Given the description of an element on the screen output the (x, y) to click on. 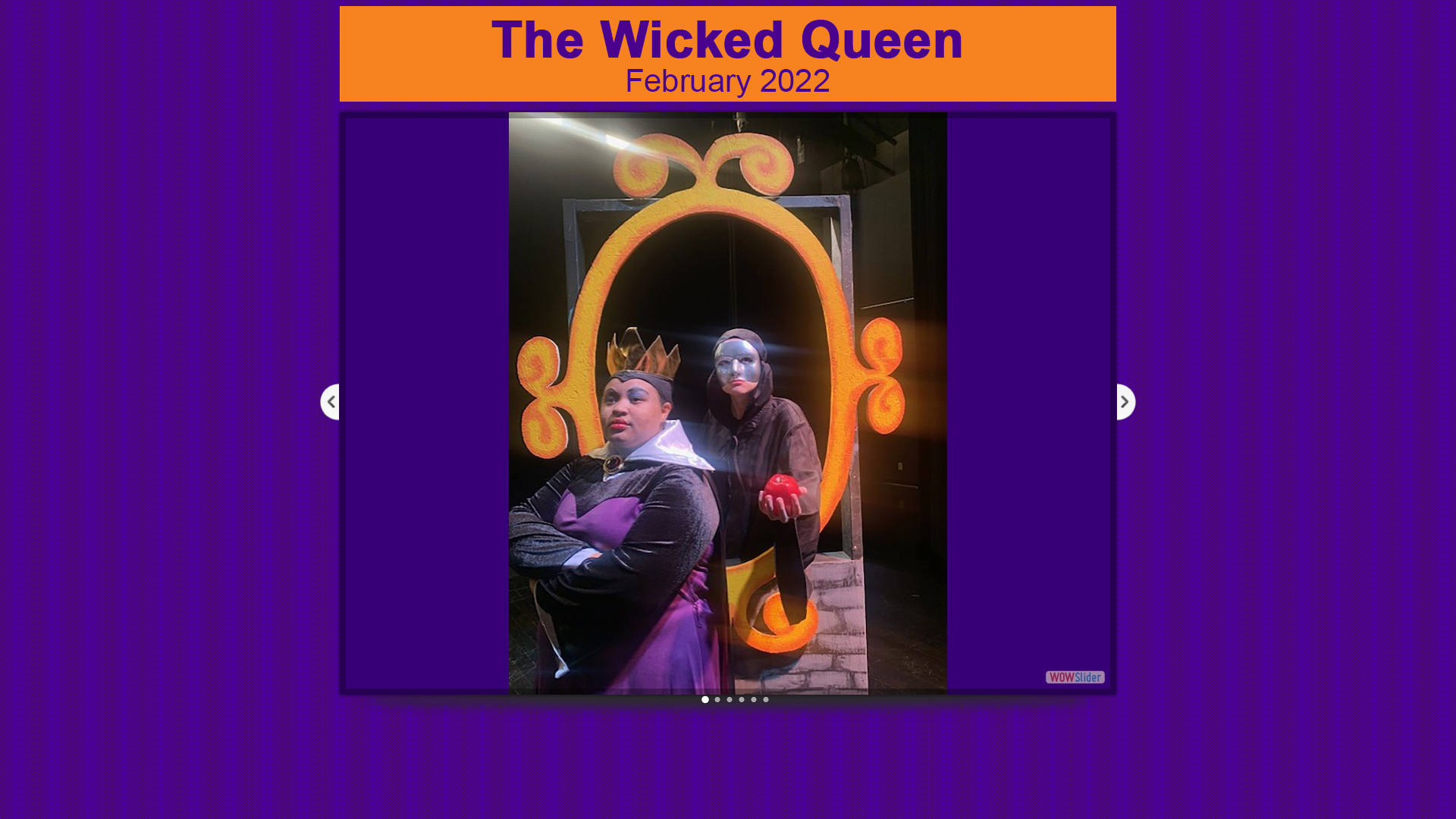
                       Element type: text (1065, 675)
